Given the description of an element on the screen output the (x, y) to click on. 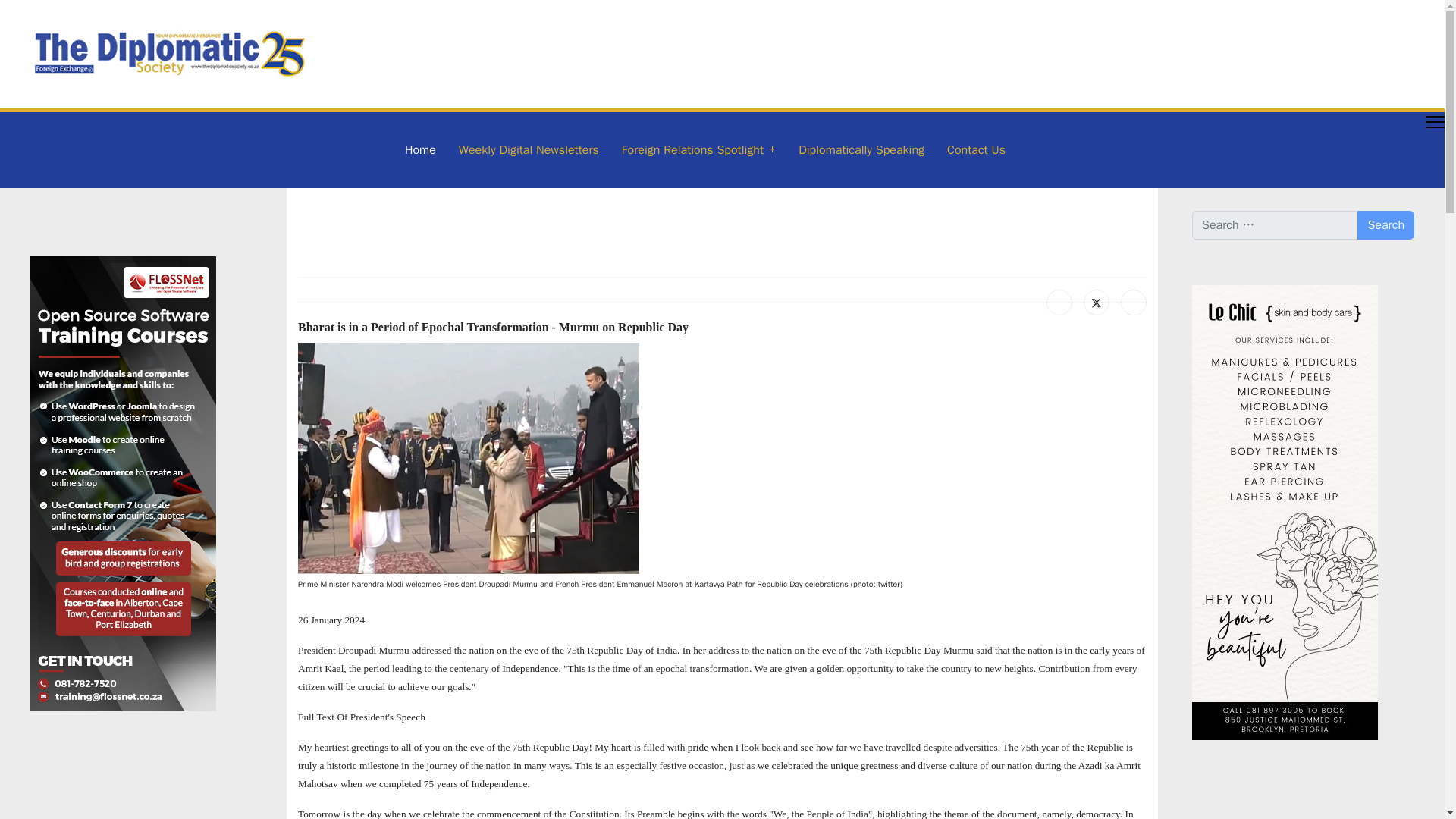
Diplomatically Speaking (861, 150)
Search (1384, 224)
Contact Us (971, 150)
LinkedIn (1134, 302)
Advertisement (90, 787)
Facebook (1058, 302)
Advertisement (1252, 802)
Advertisement (540, 229)
Weekly Digital Newsletters (528, 150)
